Given the description of an element on the screen output the (x, y) to click on. 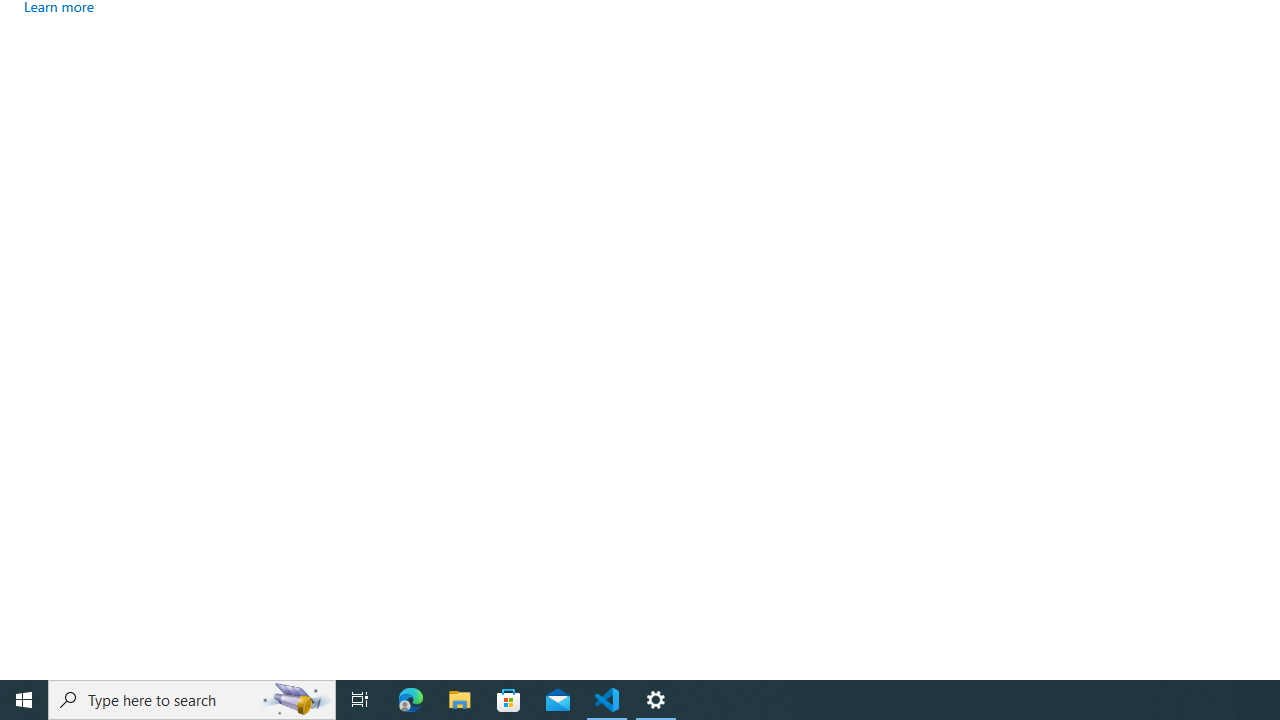
Visual Studio Code - 1 running window (607, 699)
Type here to search (191, 699)
File Explorer (460, 699)
Search highlights icon opens search home window (295, 699)
Settings - 1 running window (656, 699)
Microsoft Edge (411, 699)
Start (24, 699)
Microsoft Store (509, 699)
Task View (359, 699)
